Given the description of an element on the screen output the (x, y) to click on. 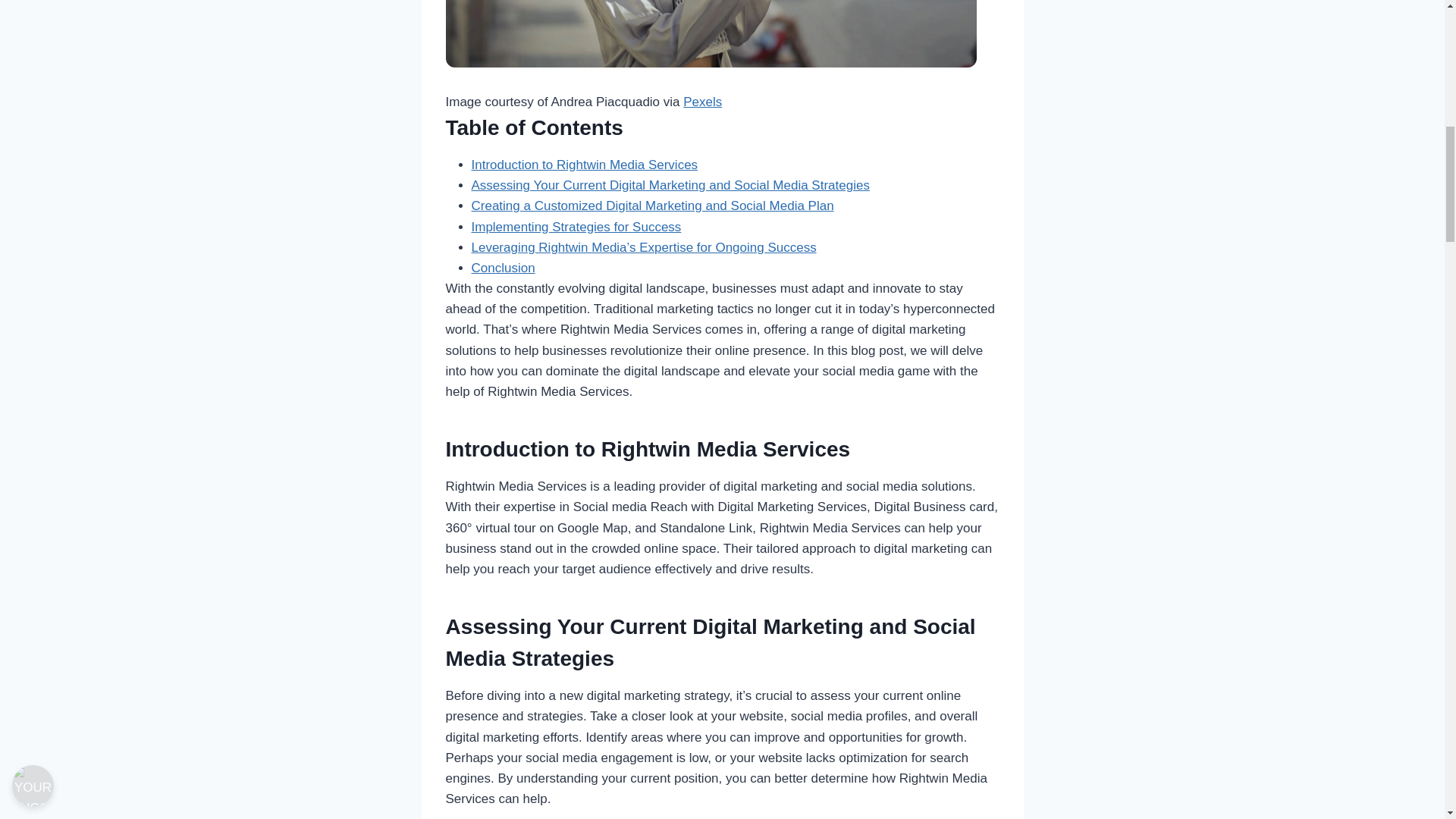
Conclusion (503, 268)
Introduction to Rightwin Media Services (584, 164)
Implementing Strategies for Success (576, 227)
Pexels (702, 101)
